Given the description of an element on the screen output the (x, y) to click on. 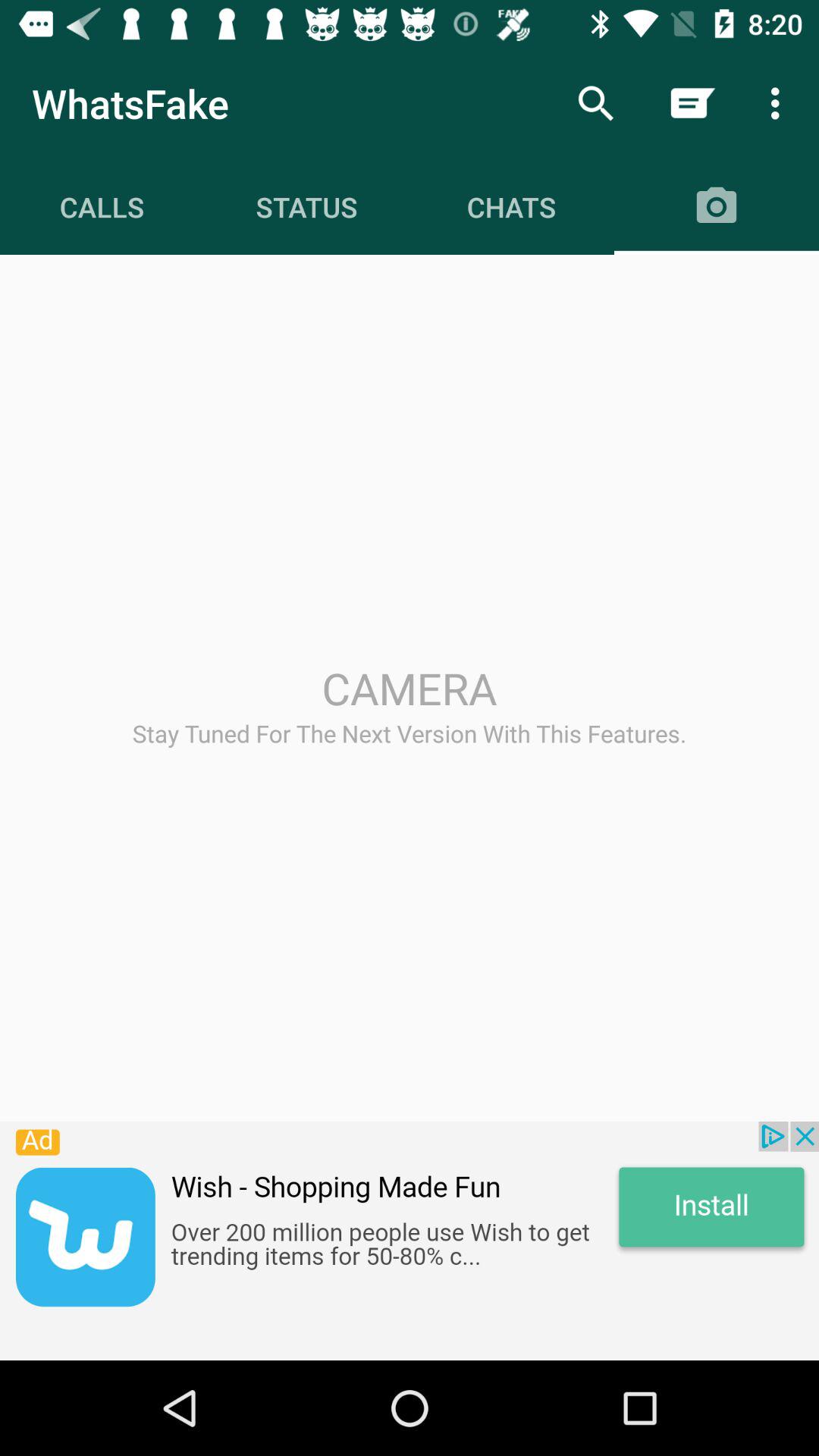
click the search button on the web page (595, 103)
click on the camera button in the menu bar (716, 207)
click on the message icon next to search icon (691, 103)
click the three dots button on the top right corner of the web page (779, 103)
